Given the description of an element on the screen output the (x, y) to click on. 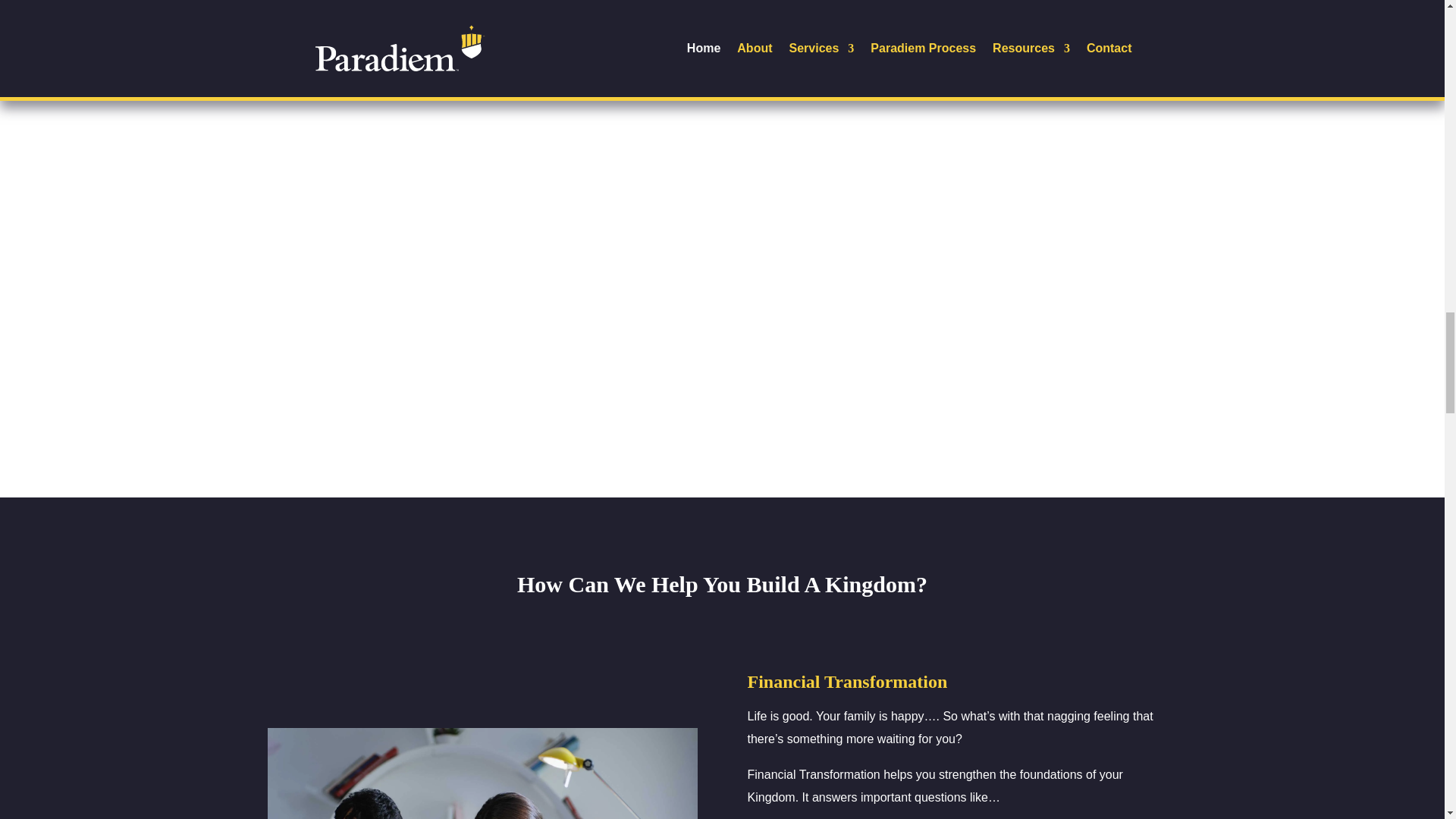
Financial-Transformation (481, 773)
